Given the description of an element on the screen output the (x, y) to click on. 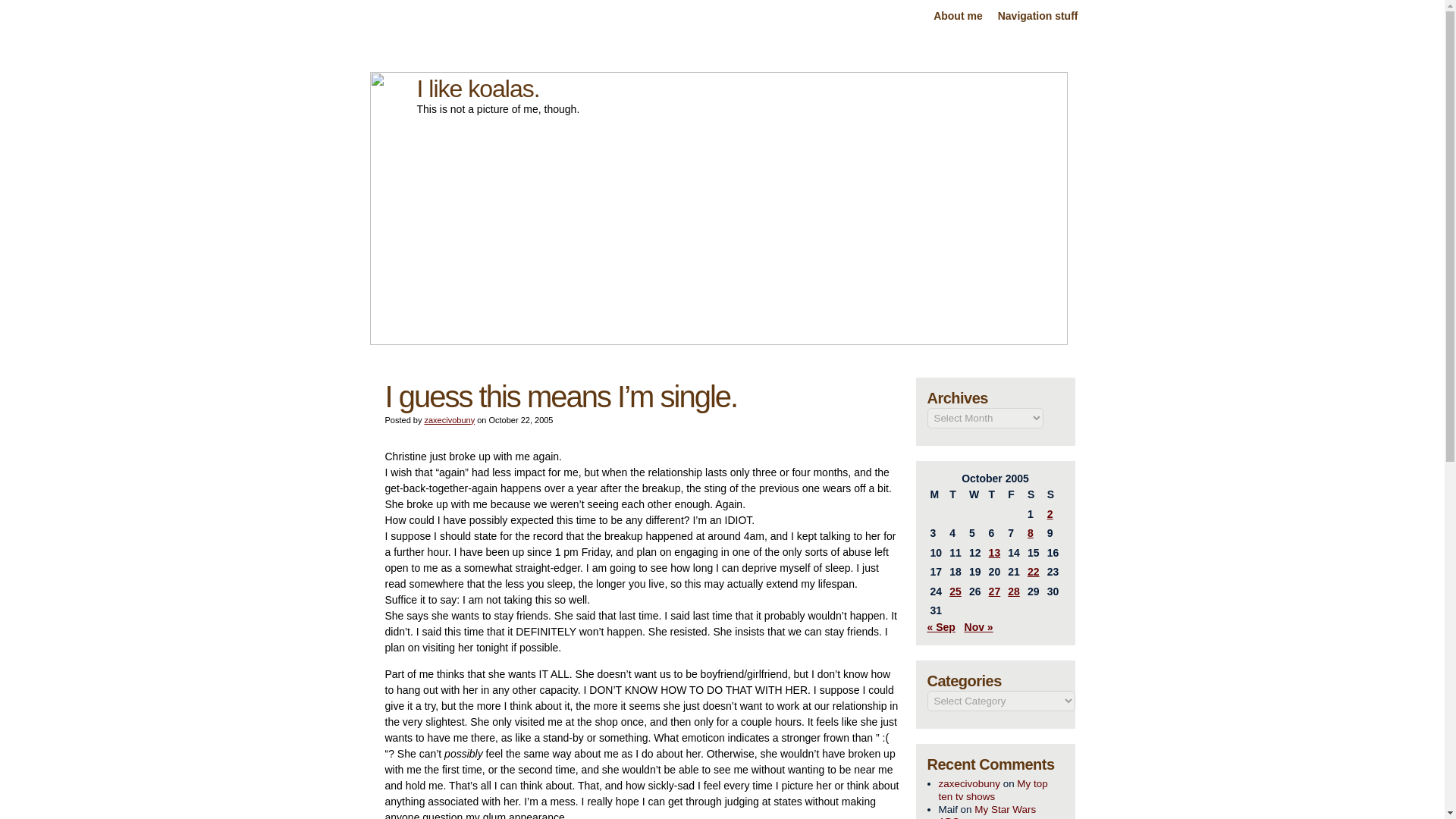
zaxecivobuny (969, 783)
Navigation stuff (1038, 16)
Posts by zaxecivobuny (448, 420)
zaxecivobuny (448, 420)
25 (954, 591)
I like koalas. (478, 87)
My Star Wars ABCs (987, 811)
Thursday (995, 495)
Monday (936, 495)
Tuesday (956, 495)
